Given the description of an element on the screen output the (x, y) to click on. 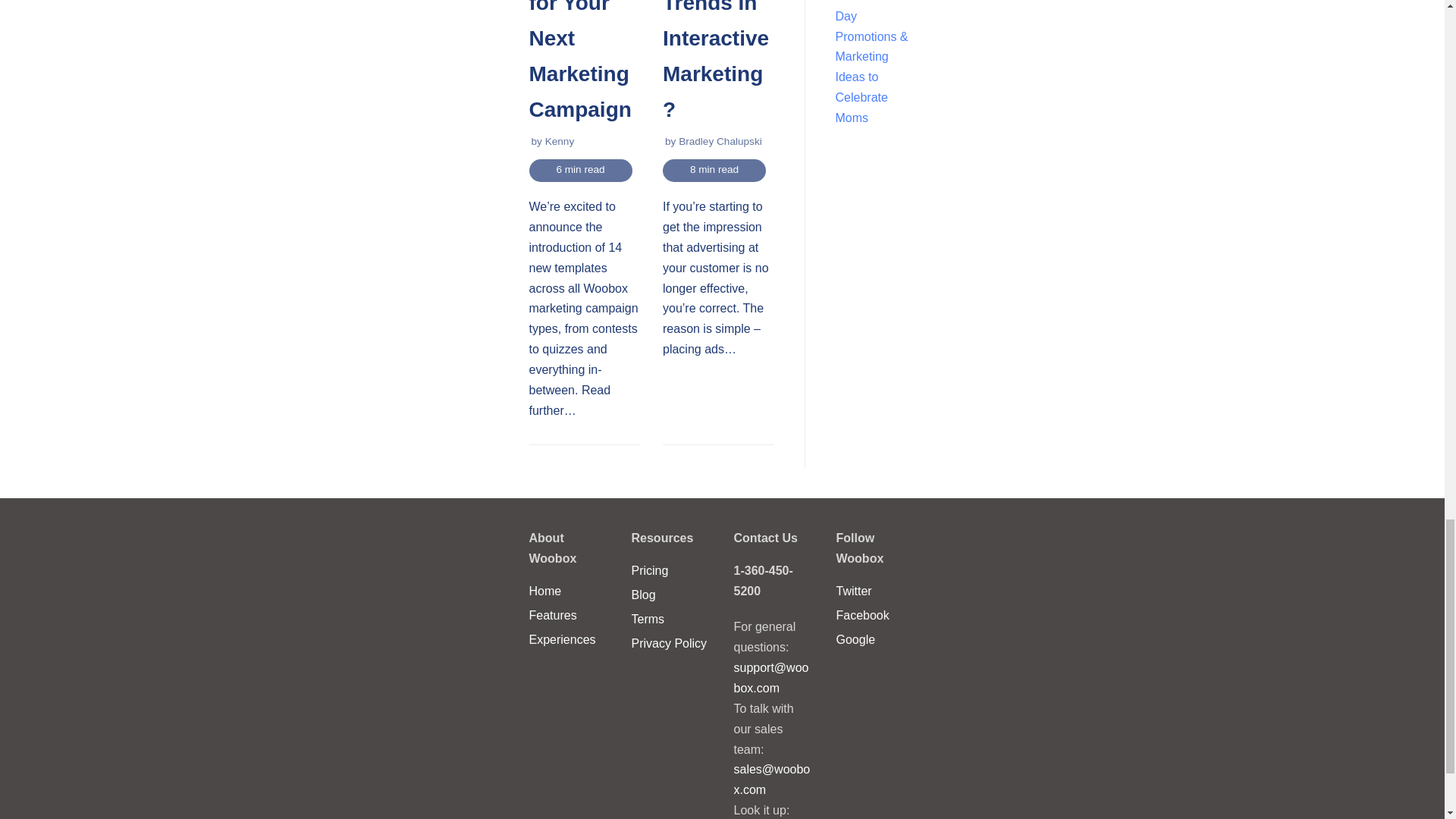
Bradley Chalupski (719, 141)
What Are The Current Trends In Interactive Marketing? (715, 60)
Posts by Kenny (559, 141)
14 New Woobox Templates for Your Next Marketing Campaign (580, 60)
Posts by Bradley Chalupski (719, 141)
Kenny (559, 141)
